Given the description of an element on the screen output the (x, y) to click on. 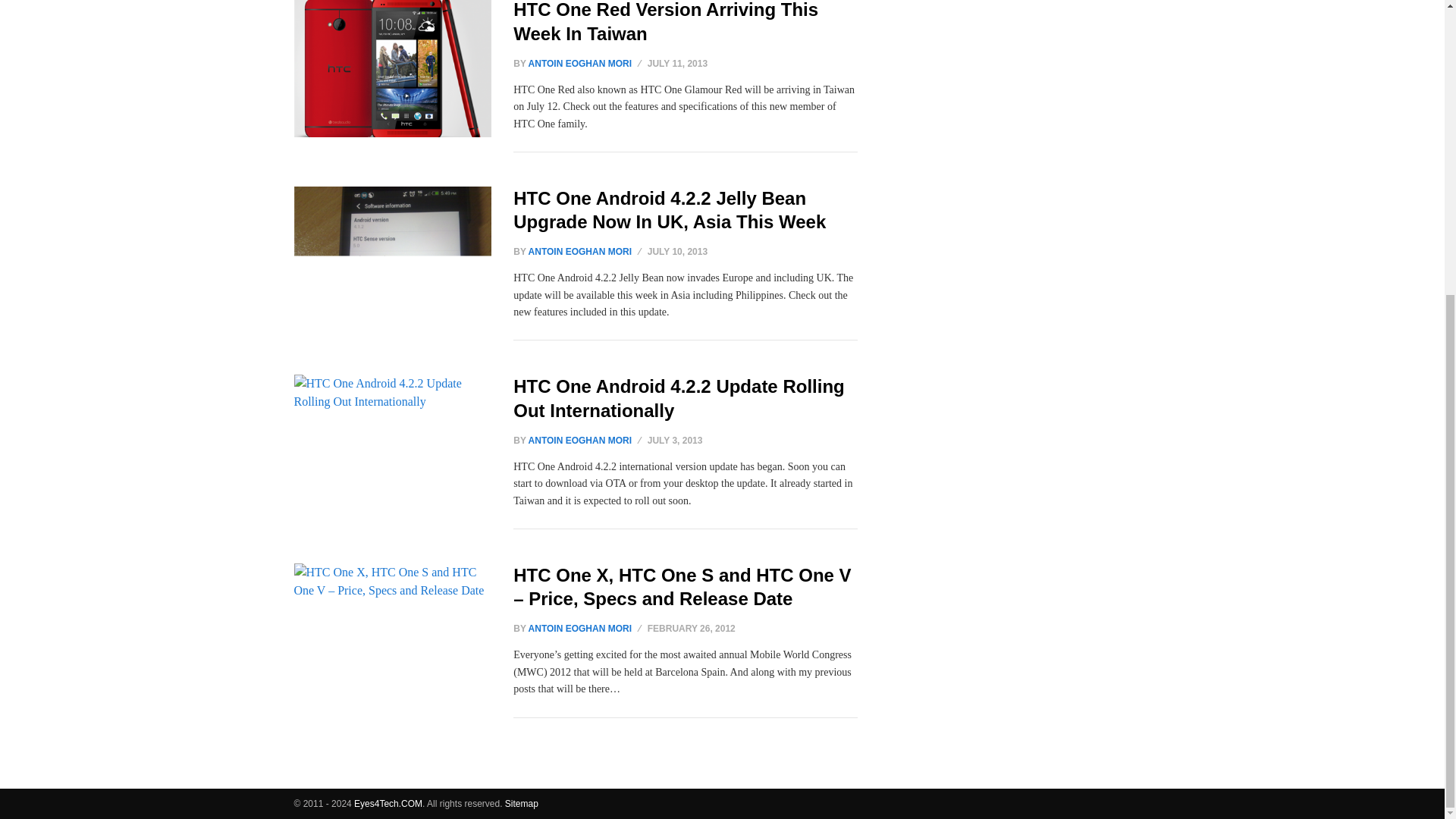
Sunday, February 26, 2012, 10:15 pm (691, 628)
Wednesday, July 10, 2013, 9:19 am (677, 251)
Wednesday, July 3, 2013, 12:08 pm (675, 439)
Thursday, July 11, 2013, 1:18 am (677, 63)
